Given the description of an element on the screen output the (x, y) to click on. 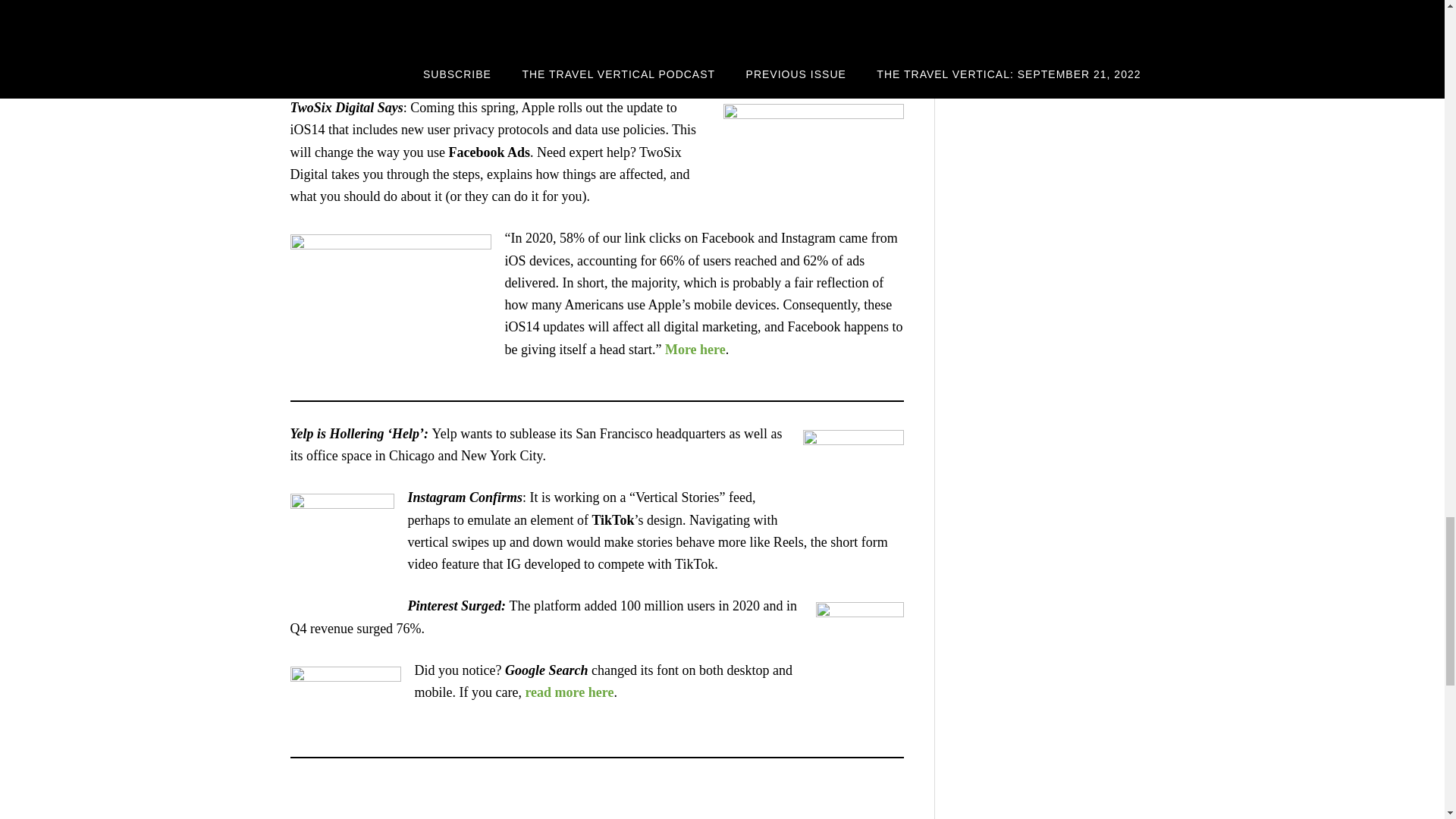
More here (695, 349)
read more here (568, 692)
